Given the description of an element on the screen output the (x, y) to click on. 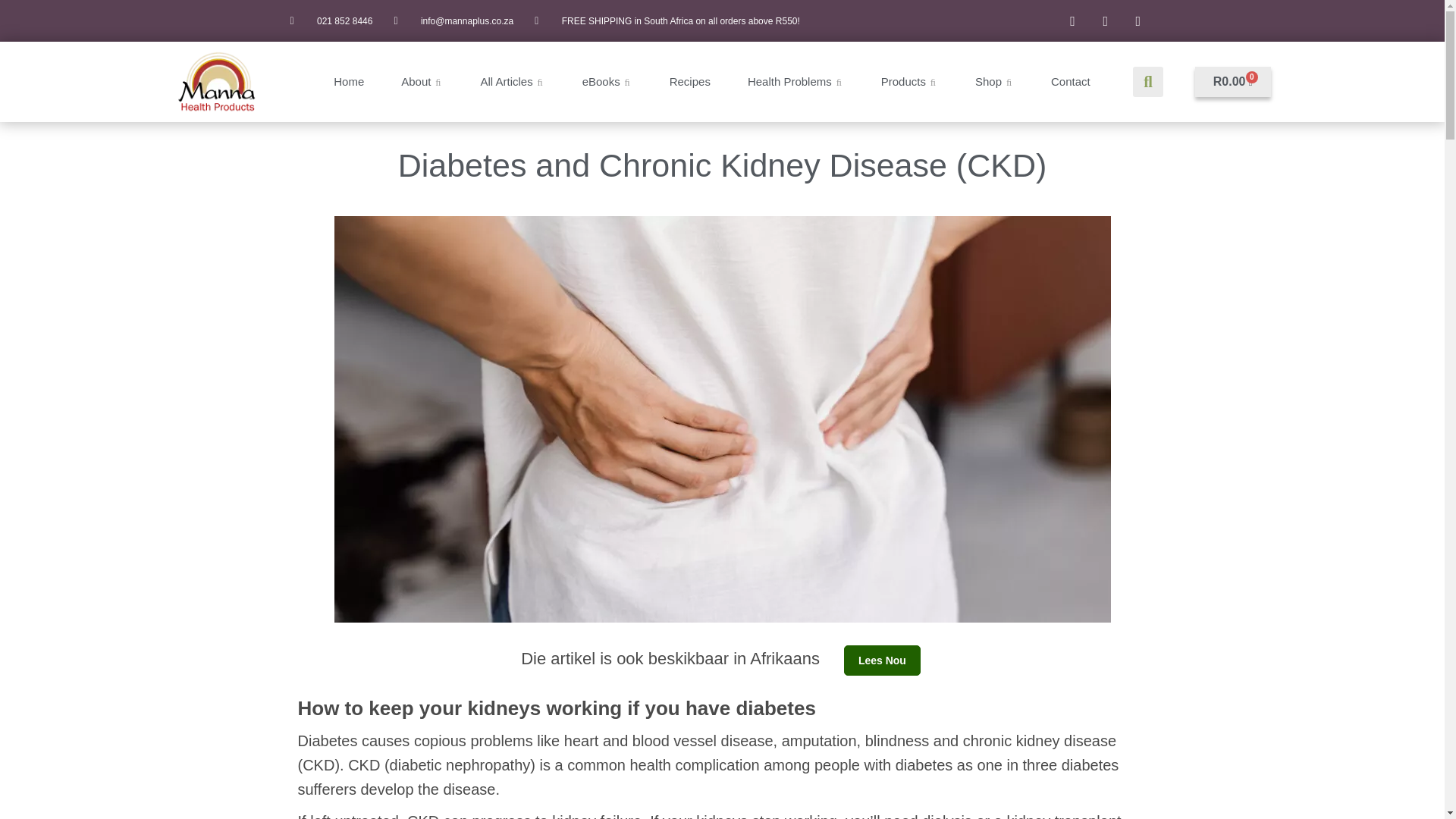
eBooks (606, 81)
Recipes (689, 81)
Health Problems (796, 81)
Home (348, 81)
All Articles (512, 81)
About (421, 81)
